Given the description of an element on the screen output the (x, y) to click on. 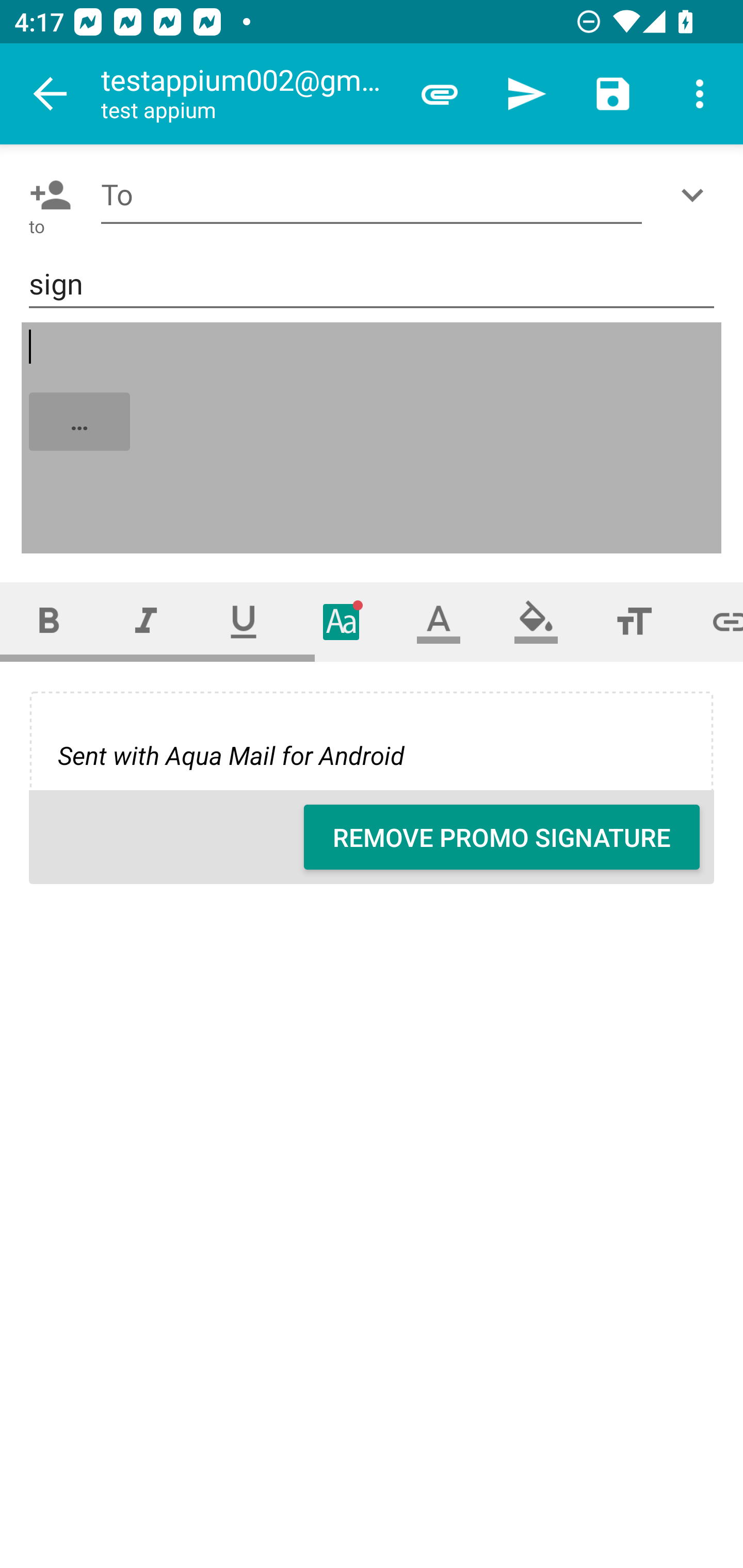
Navigate up (50, 93)
testappium002@gmail.com test appium (248, 93)
Attach (439, 93)
Send (525, 93)
Save (612, 93)
More options (699, 93)
Pick contact: To (46, 195)
Show/Add CC/BCC (696, 195)
To (371, 195)
sign (371, 284)

…
 (372, 438)
Bold (48, 621)
Italic (145, 621)
Underline (243, 621)
Typeface (font) (341, 621)
Text color (438, 621)
Fill color (536, 621)
Font size (633, 621)
REMOVE PROMO SIGNATURE (501, 837)
